Given the description of an element on the screen output the (x, y) to click on. 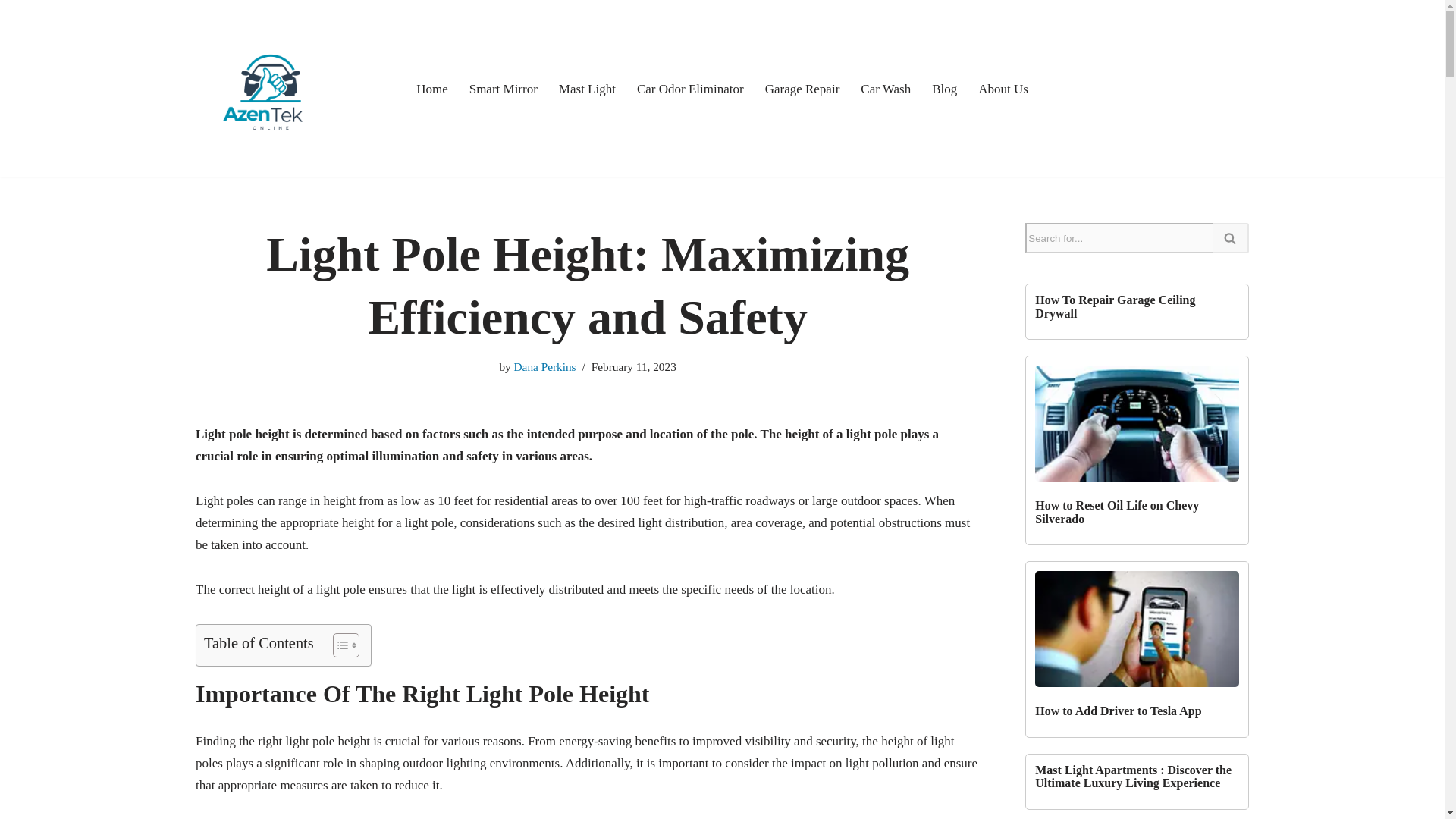
Garage Repair (802, 88)
Dana Perkins (544, 366)
Mast Light (587, 88)
Home (432, 88)
Car Odor Eliminator (690, 88)
Skip to content (11, 31)
Posts by Dana Perkins (544, 366)
About Us (1002, 88)
Blog (943, 88)
Car Wash (885, 88)
